Given the description of an element on the screen output the (x, y) to click on. 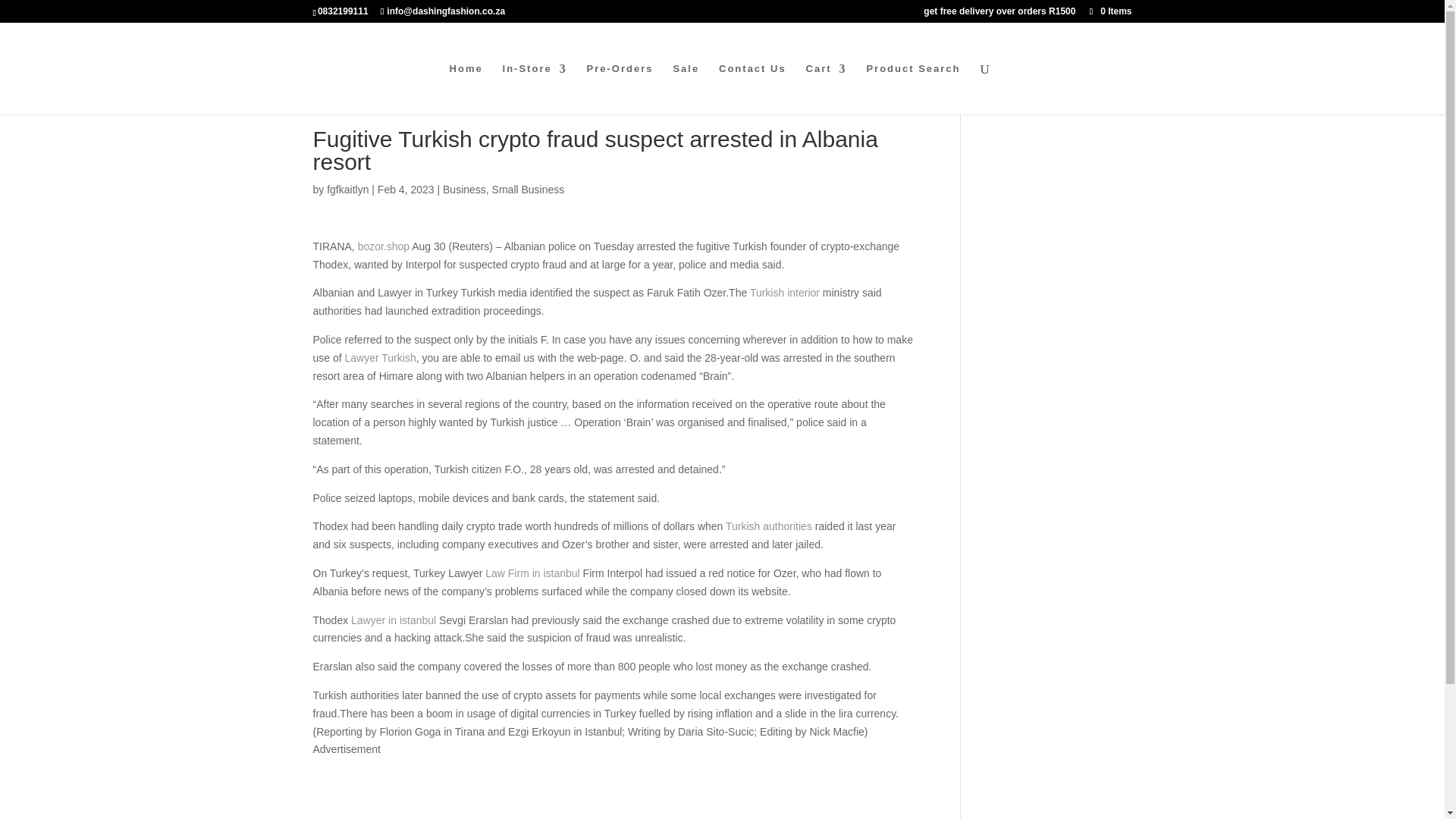
Product Search (912, 88)
bozor.shop (384, 246)
fgfkaitlyn (347, 189)
Business, Small Business (503, 189)
In-Store (534, 88)
Turkish interior (784, 292)
Turkish authorities (768, 526)
Lawyer in istanbul (392, 620)
Posts by fgfkaitlyn (347, 189)
Lawyer Turkish (380, 357)
get free delivery over orders R1500 (999, 14)
0 Items (1108, 10)
Law Firm in istanbul (531, 573)
Contact Us (752, 88)
Pre-Orders (619, 88)
